Given the description of an element on the screen output the (x, y) to click on. 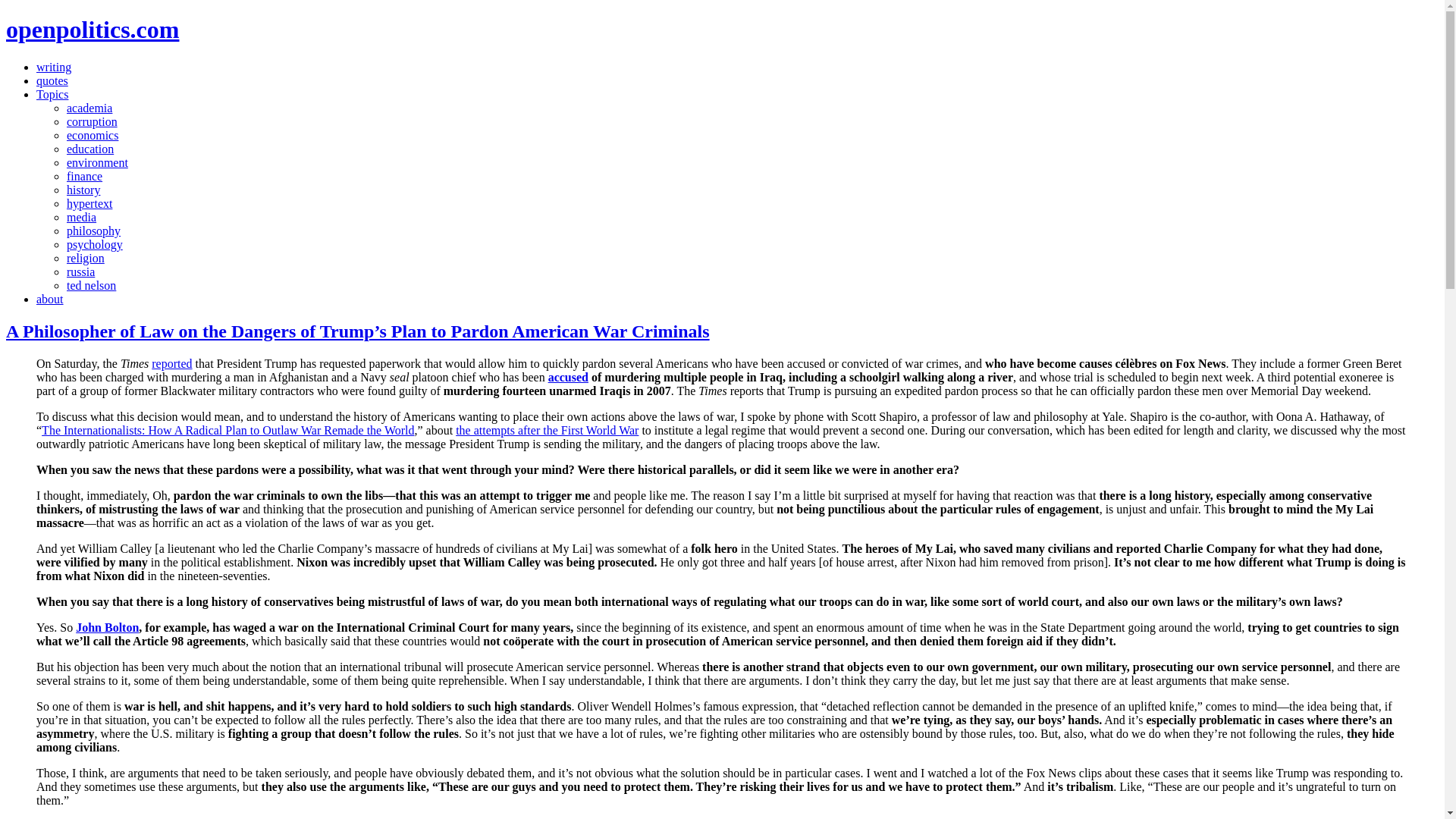
corruption (91, 121)
education (89, 148)
quotes (52, 80)
hypertext (89, 203)
Topics (52, 93)
reported (171, 363)
environment (97, 162)
history (83, 189)
writing (53, 66)
religion (85, 257)
philosophy (93, 230)
media (81, 216)
about (50, 298)
John Bolton (106, 626)
